Given the description of an element on the screen output the (x, y) to click on. 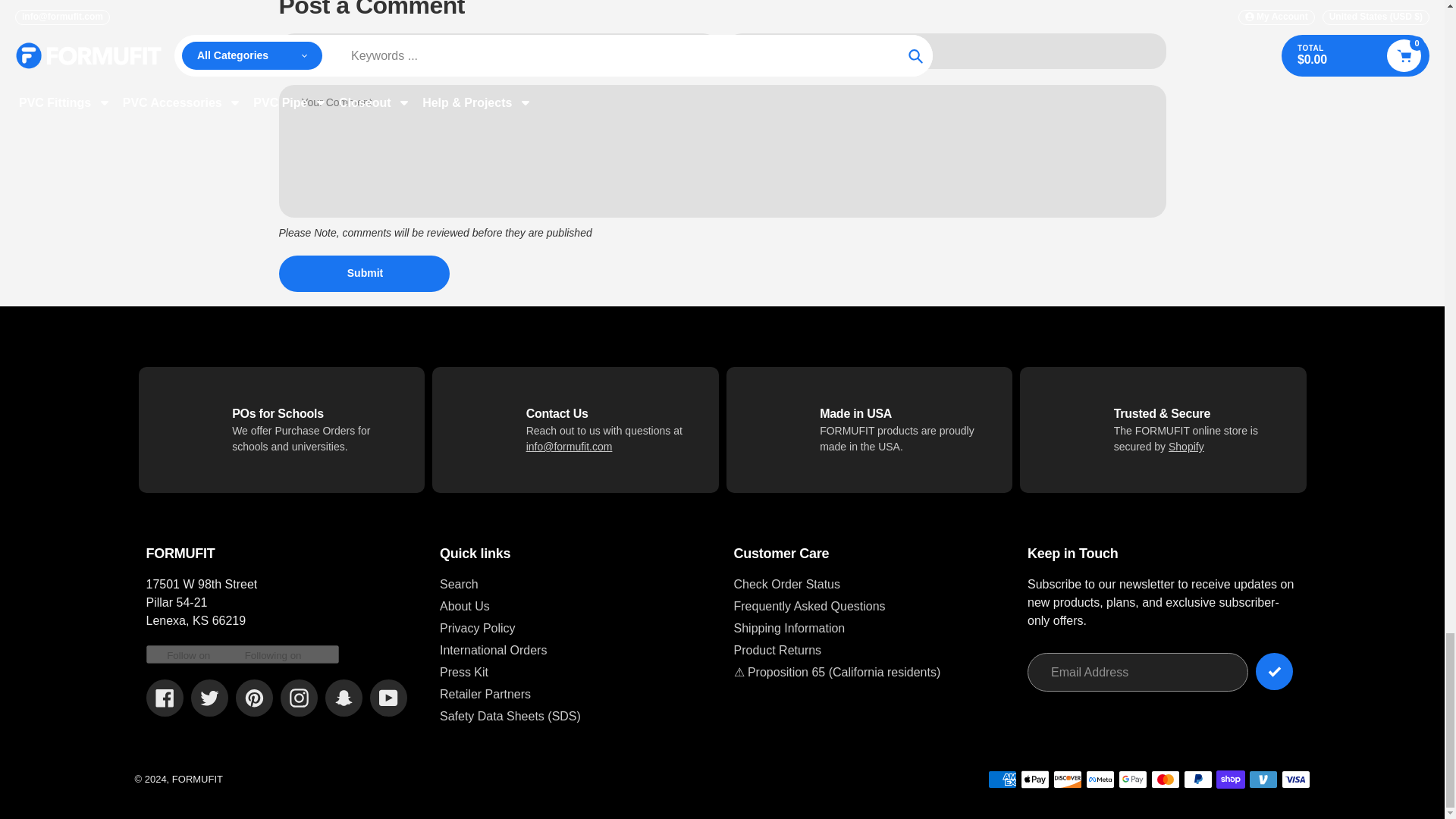
Submit (364, 273)
American Express (1001, 779)
